Given the description of an element on the screen output the (x, y) to click on. 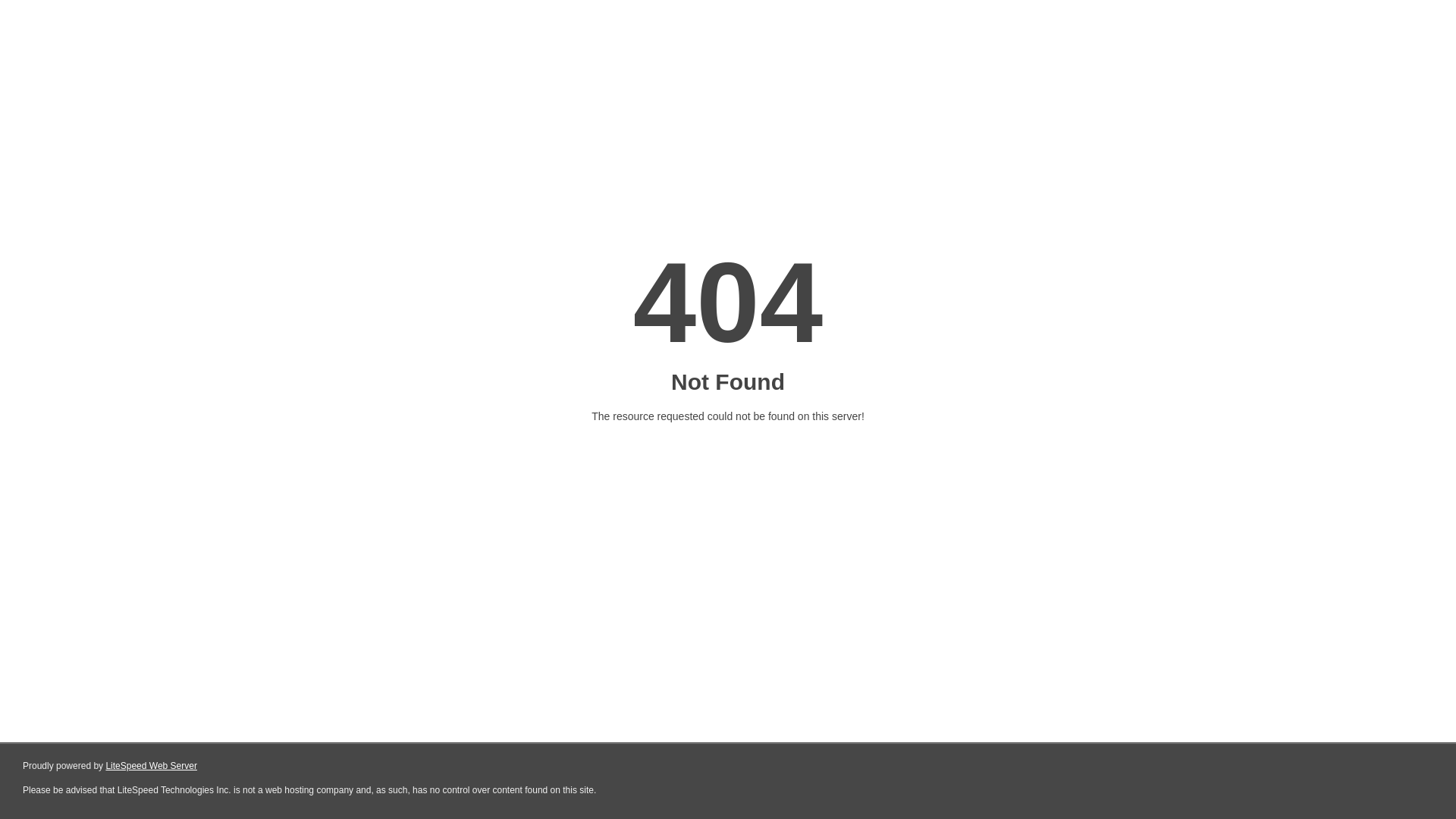
LiteSpeed Web Server Element type: text (151, 765)
